Given the description of an element on the screen output the (x, y) to click on. 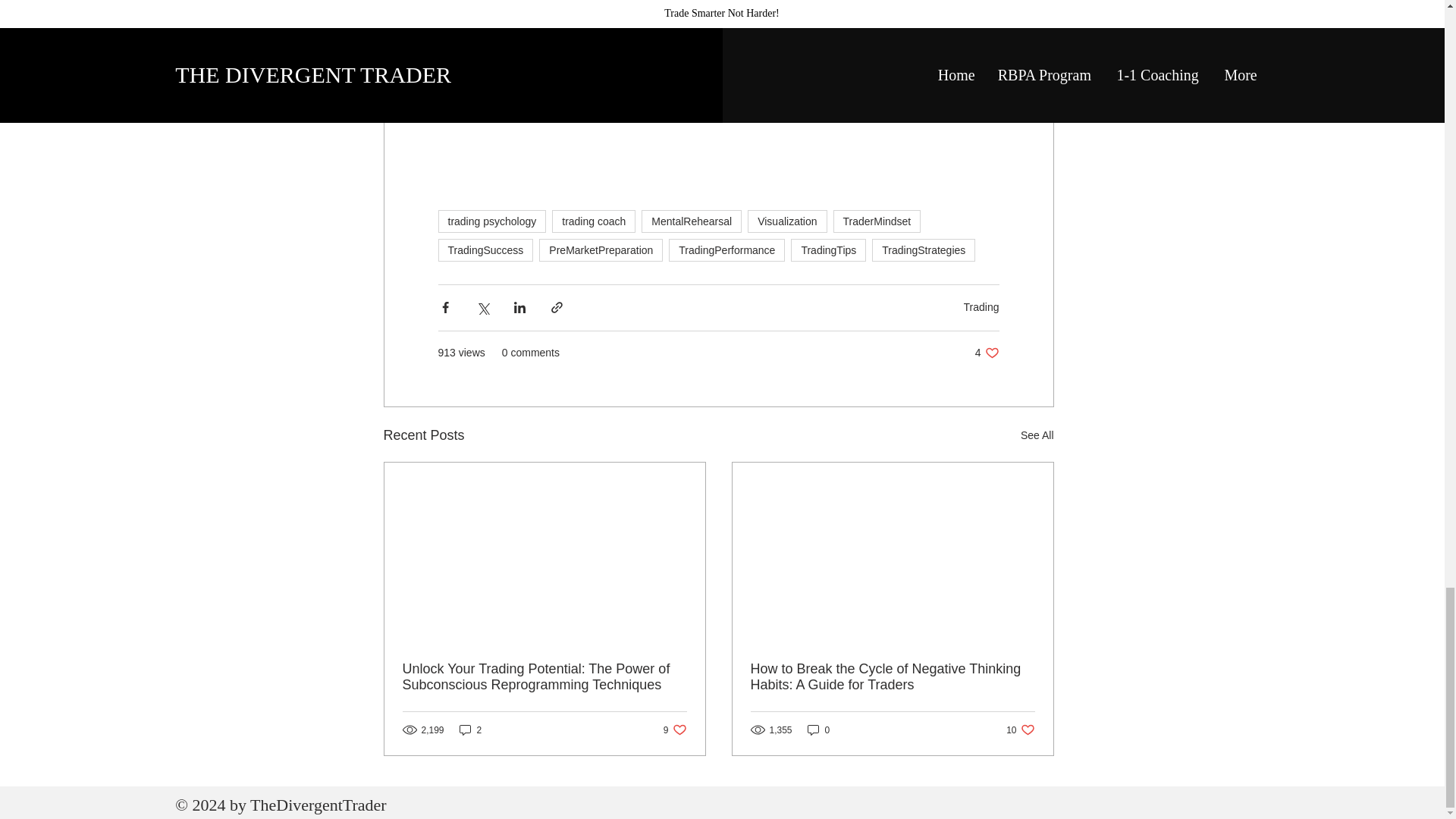
TradingTips (828, 250)
trading coach (592, 220)
MentalRehearsal (691, 220)
0 (818, 729)
Trading (980, 306)
trading psychology (492, 220)
TradingStrategies (923, 250)
PreMarketPreparation (600, 250)
